Given the description of an element on the screen output the (x, y) to click on. 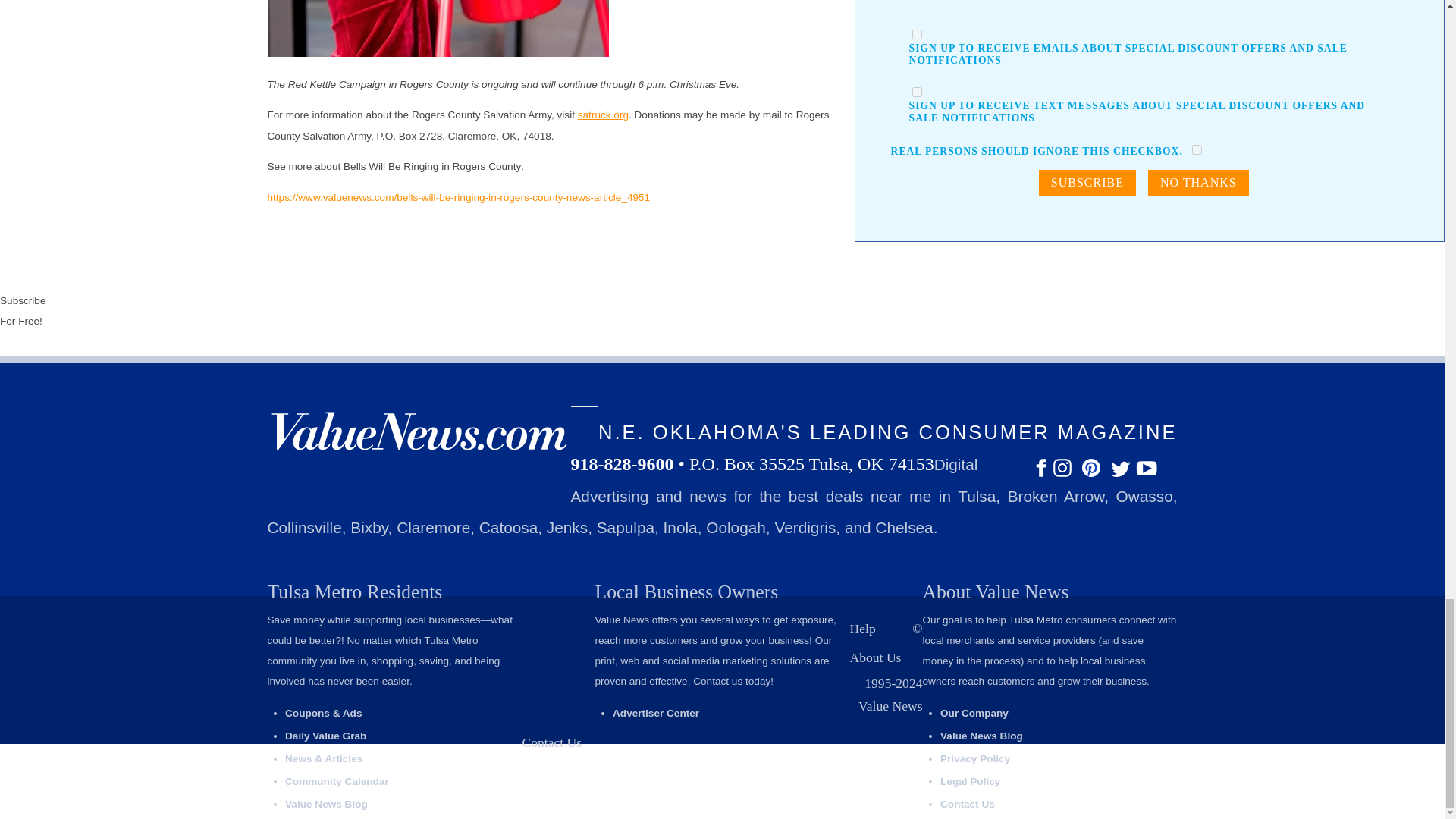
Subscribe (1087, 182)
satruck.org (603, 114)
1 (1197, 149)
1 (916, 34)
1 (916, 91)
No Thanks (1198, 182)
